Given the description of an element on the screen output the (x, y) to click on. 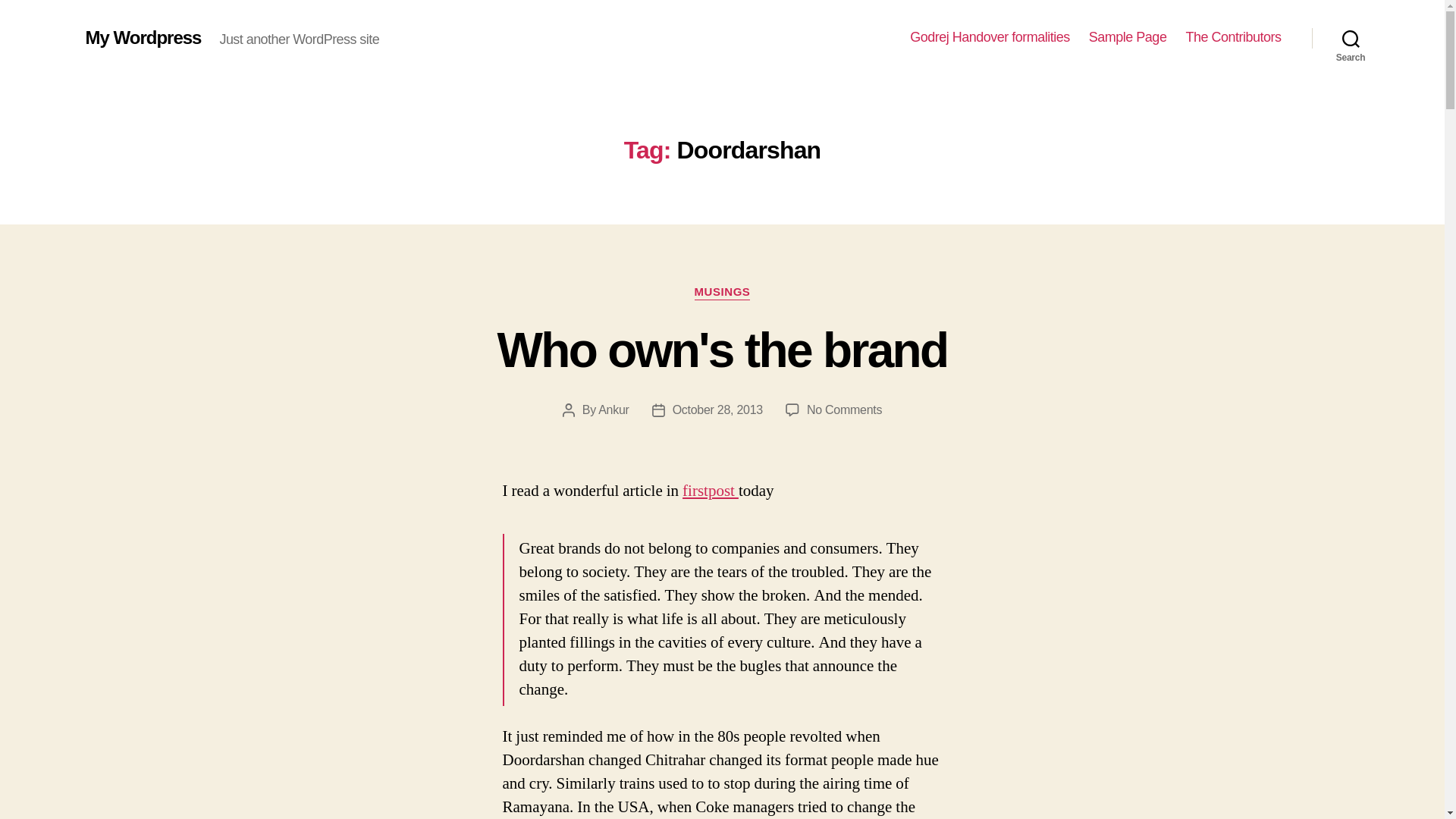
Who own's the brand (722, 349)
Godrej Handover formalities (844, 409)
My Wordpress (990, 37)
The Contributors (142, 37)
Sample Page (1233, 37)
October 28, 2013 (1128, 37)
MUSINGS (717, 409)
Ankur (722, 292)
Search (613, 409)
